Given the description of an element on the screen output the (x, y) to click on. 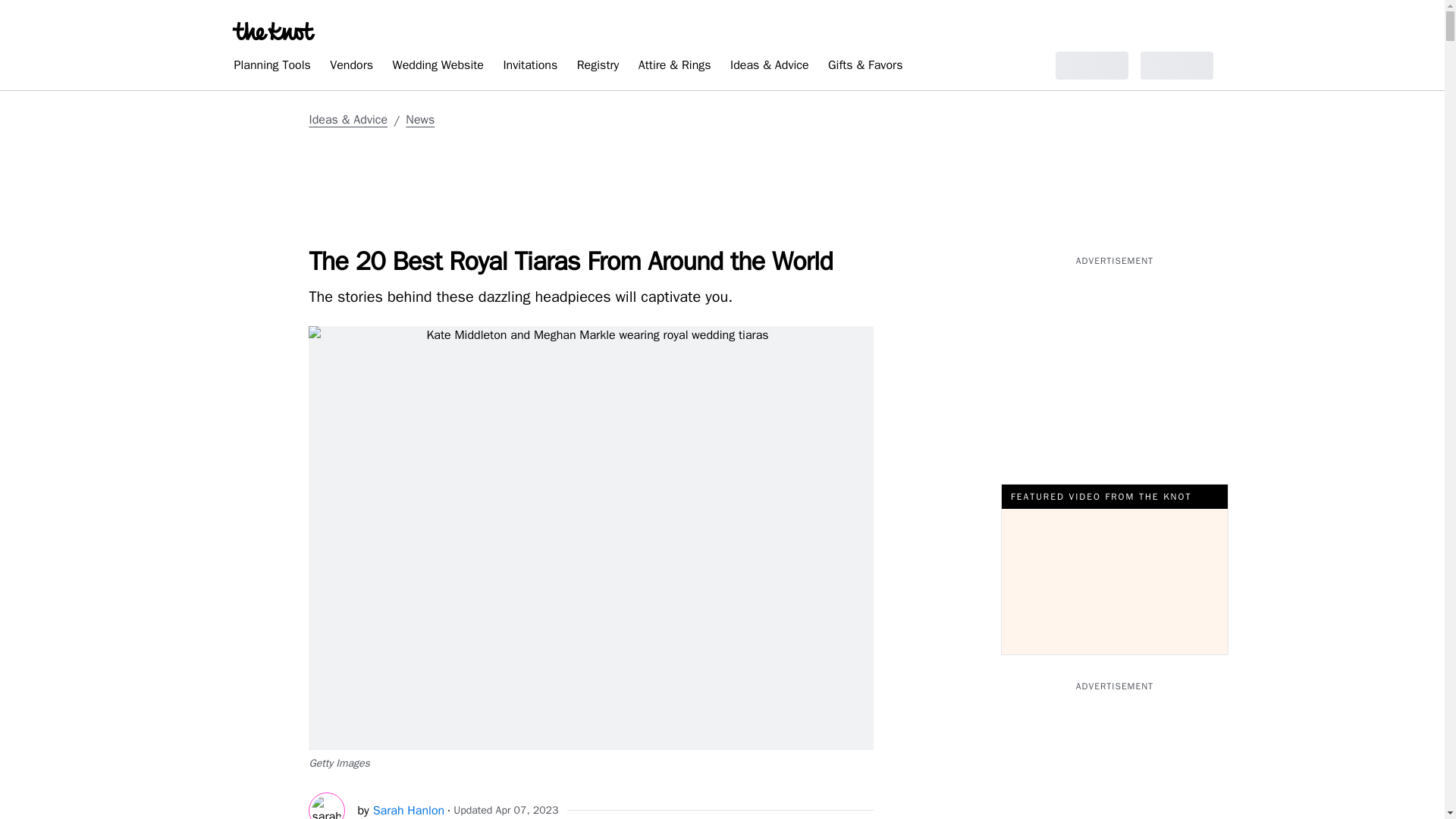
Registry (598, 67)
Invitations (529, 67)
Wedding Website (438, 67)
Vendors (350, 67)
Planning Tools (271, 67)
